Given the description of an element on the screen output the (x, y) to click on. 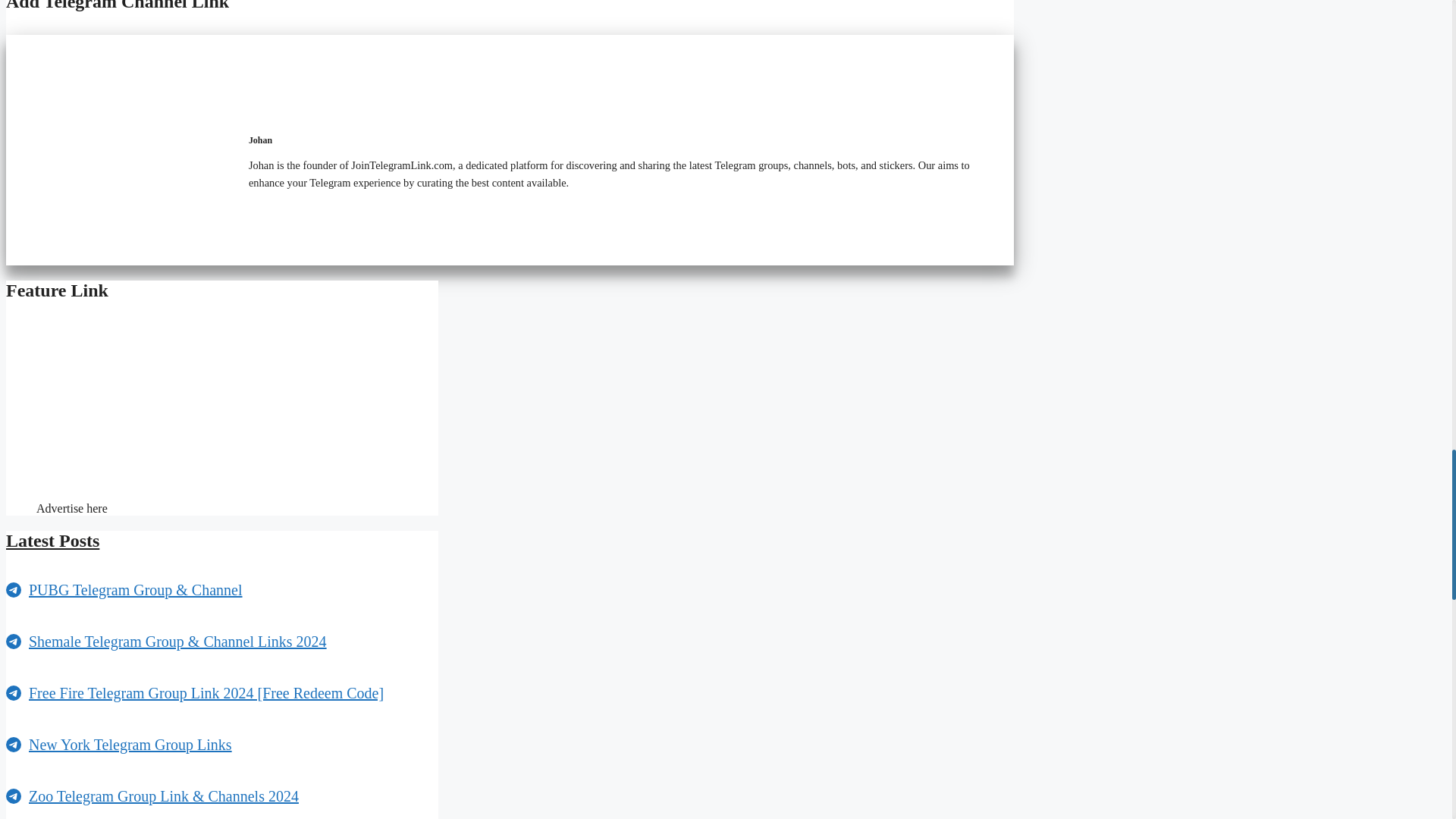
New York Telegram Group Links (130, 744)
